Given the description of an element on the screen output the (x, y) to click on. 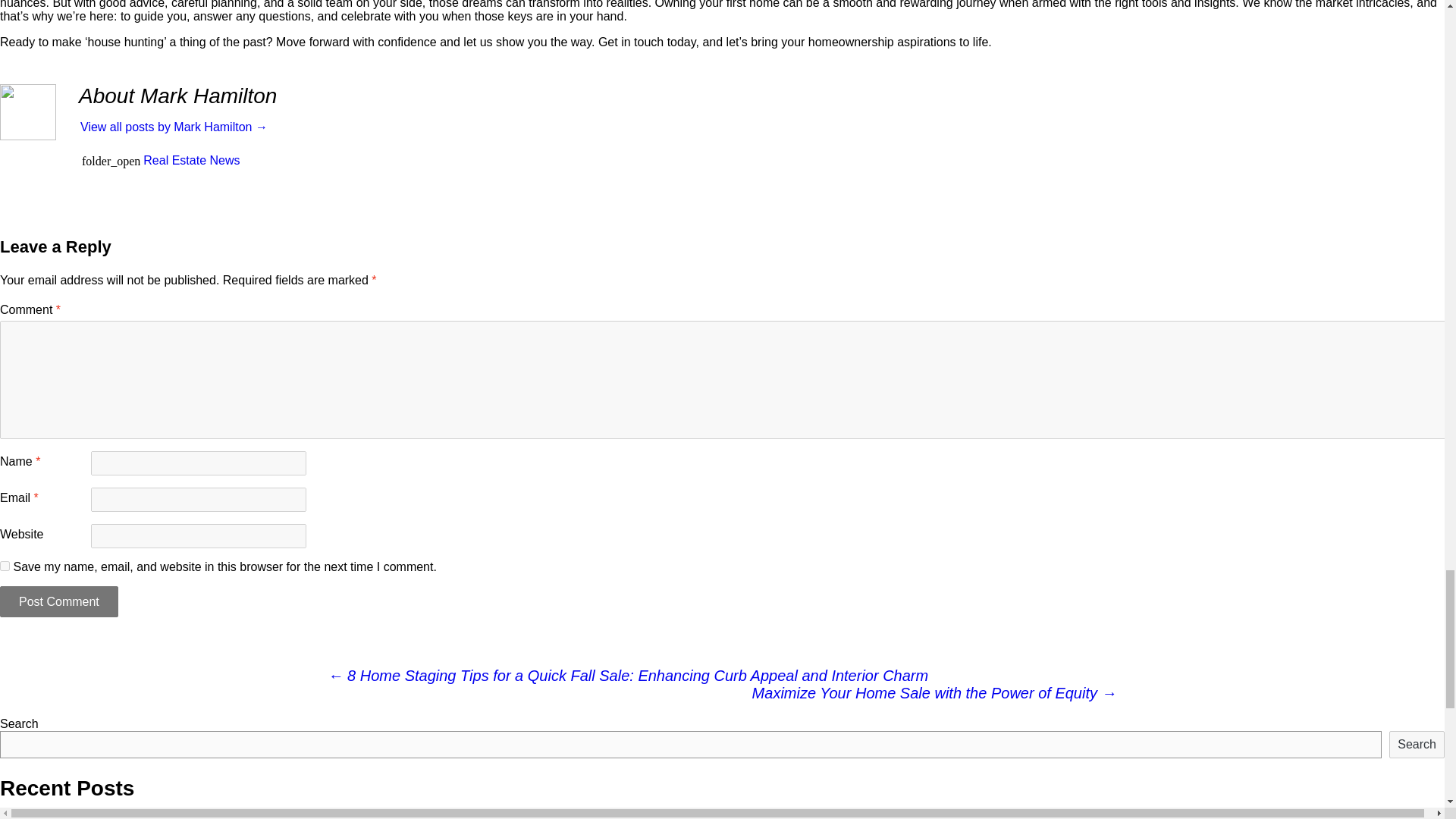
Post Comment (58, 601)
yes (5, 565)
